Given the description of an element on the screen output the (x, y) to click on. 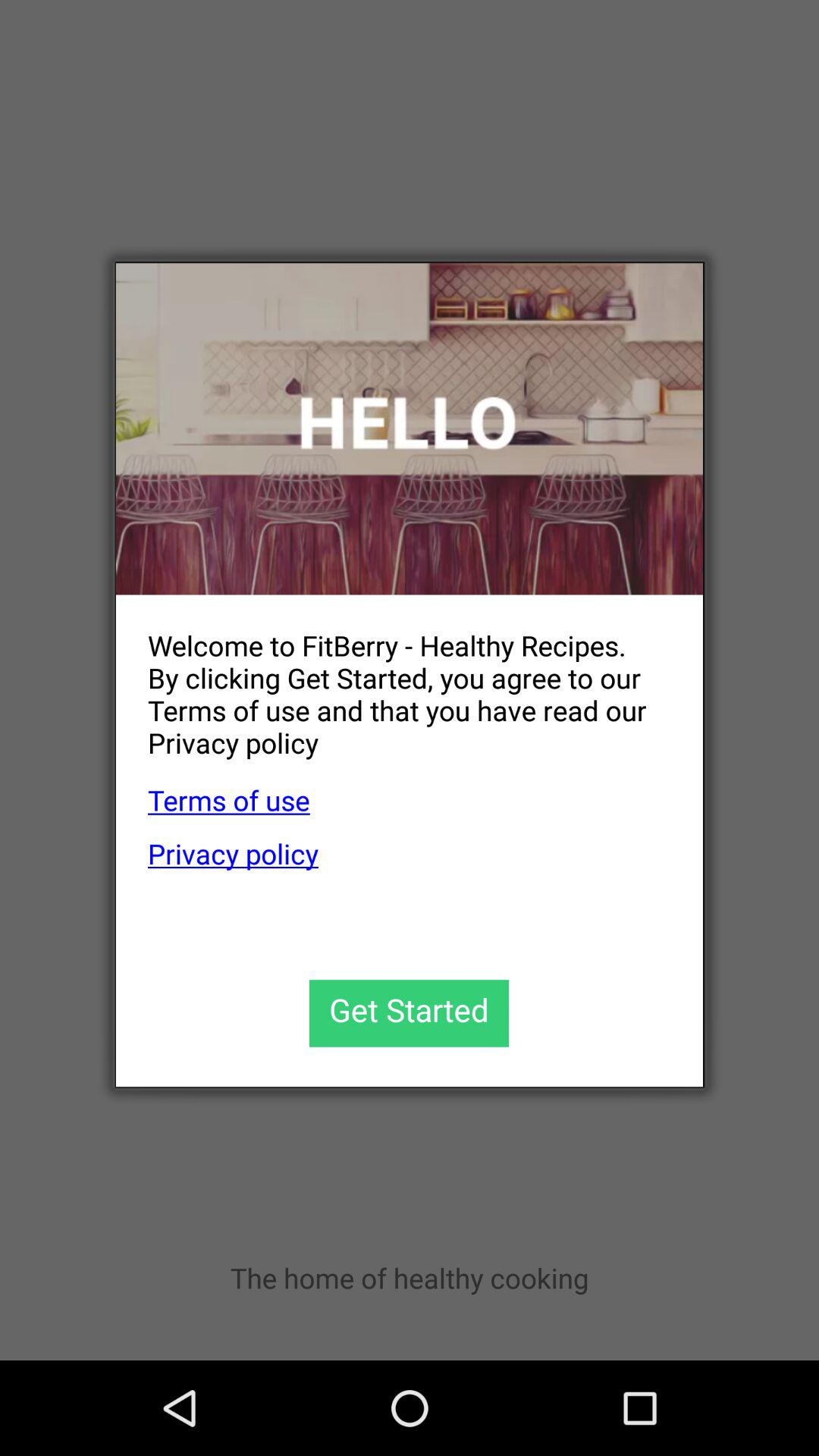
welcome to fitberry (409, 428)
